Given the description of an element on the screen output the (x, y) to click on. 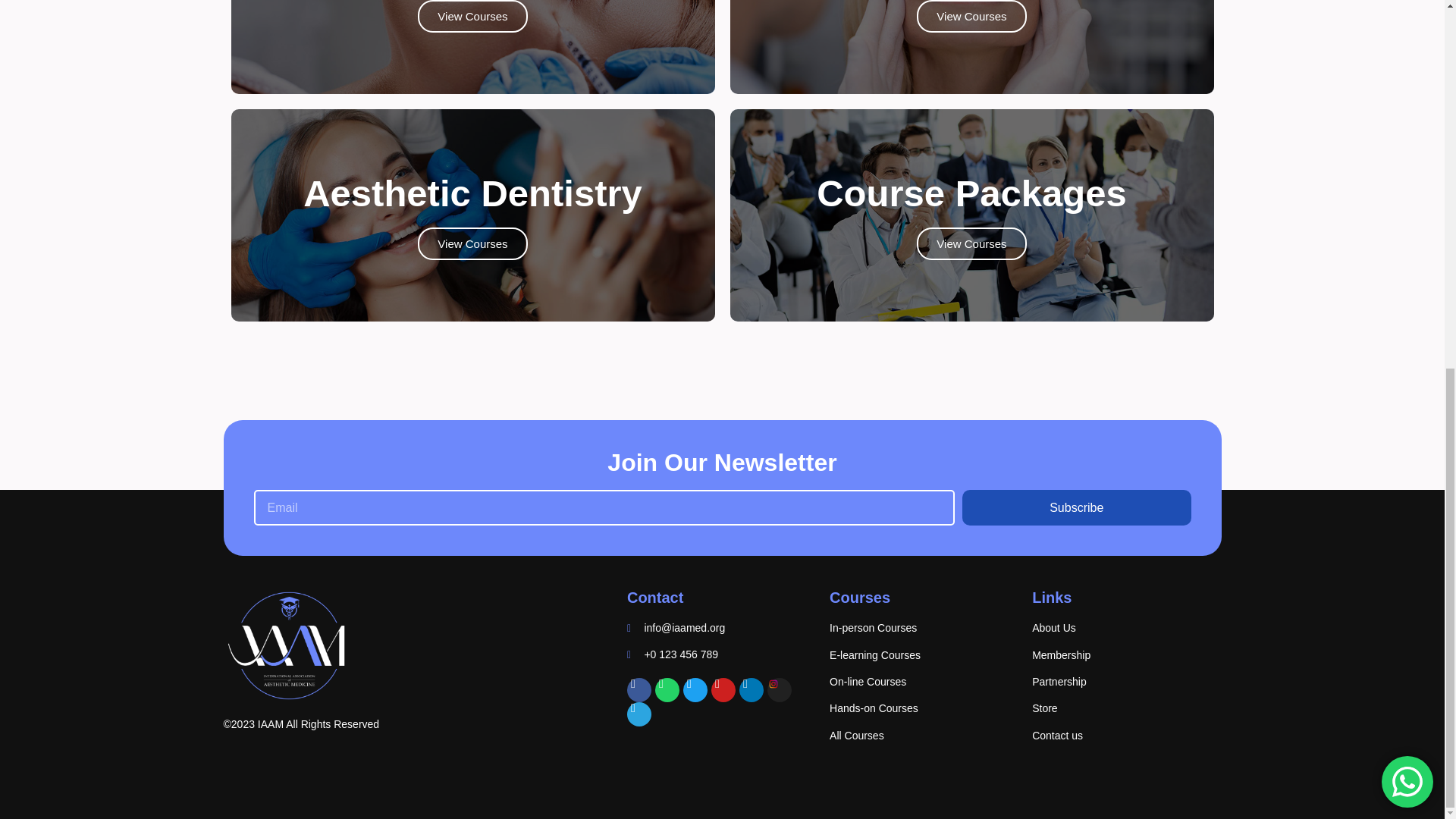
View Courses (971, 16)
WhatsApp us (1406, 116)
Subscribe (1076, 507)
View Courses (472, 243)
View Courses (971, 243)
View Courses (472, 16)
